Given the description of an element on the screen output the (x, y) to click on. 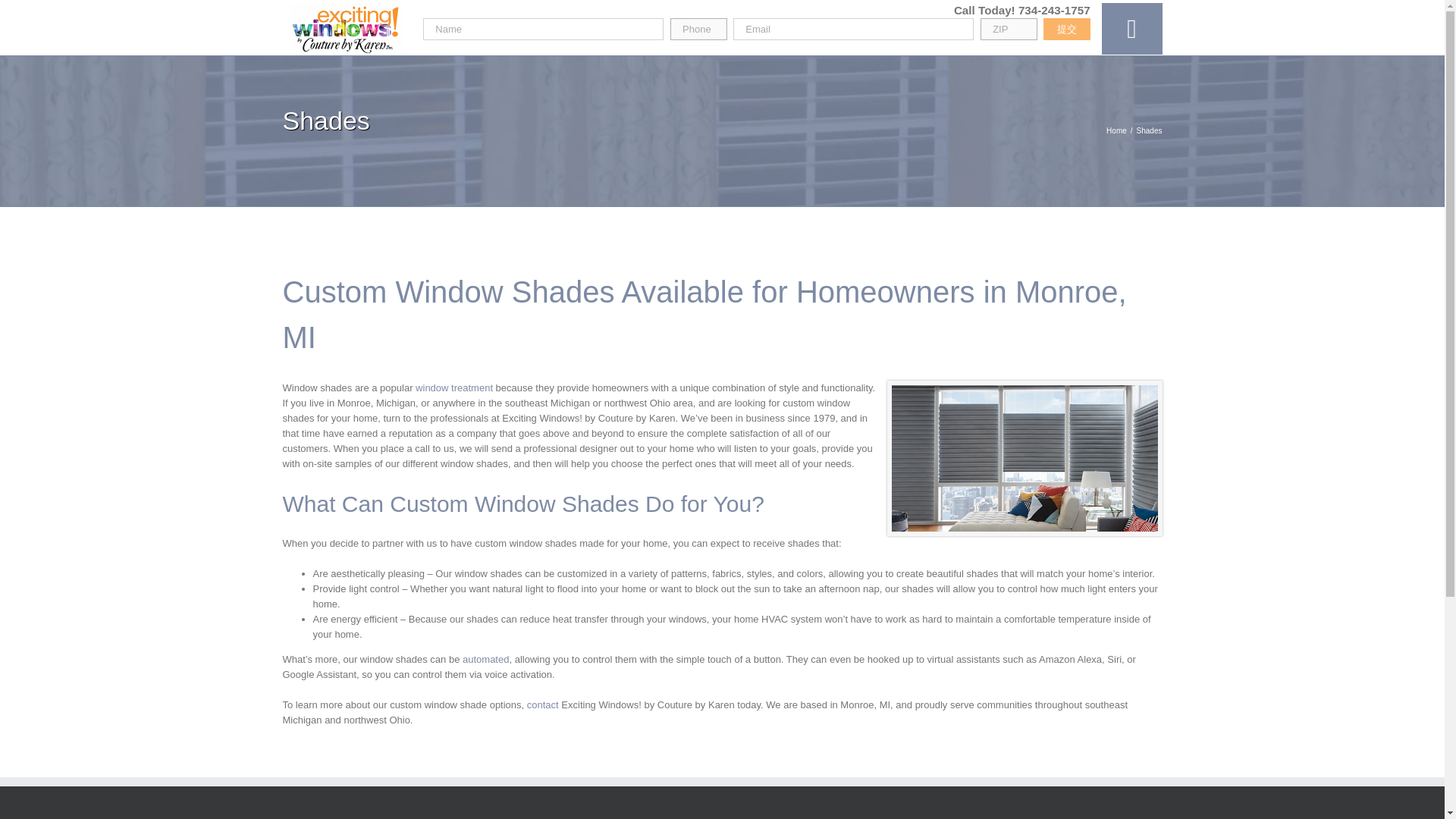
Window Shades  (1023, 458)
